Given the description of an element on the screen output the (x, y) to click on. 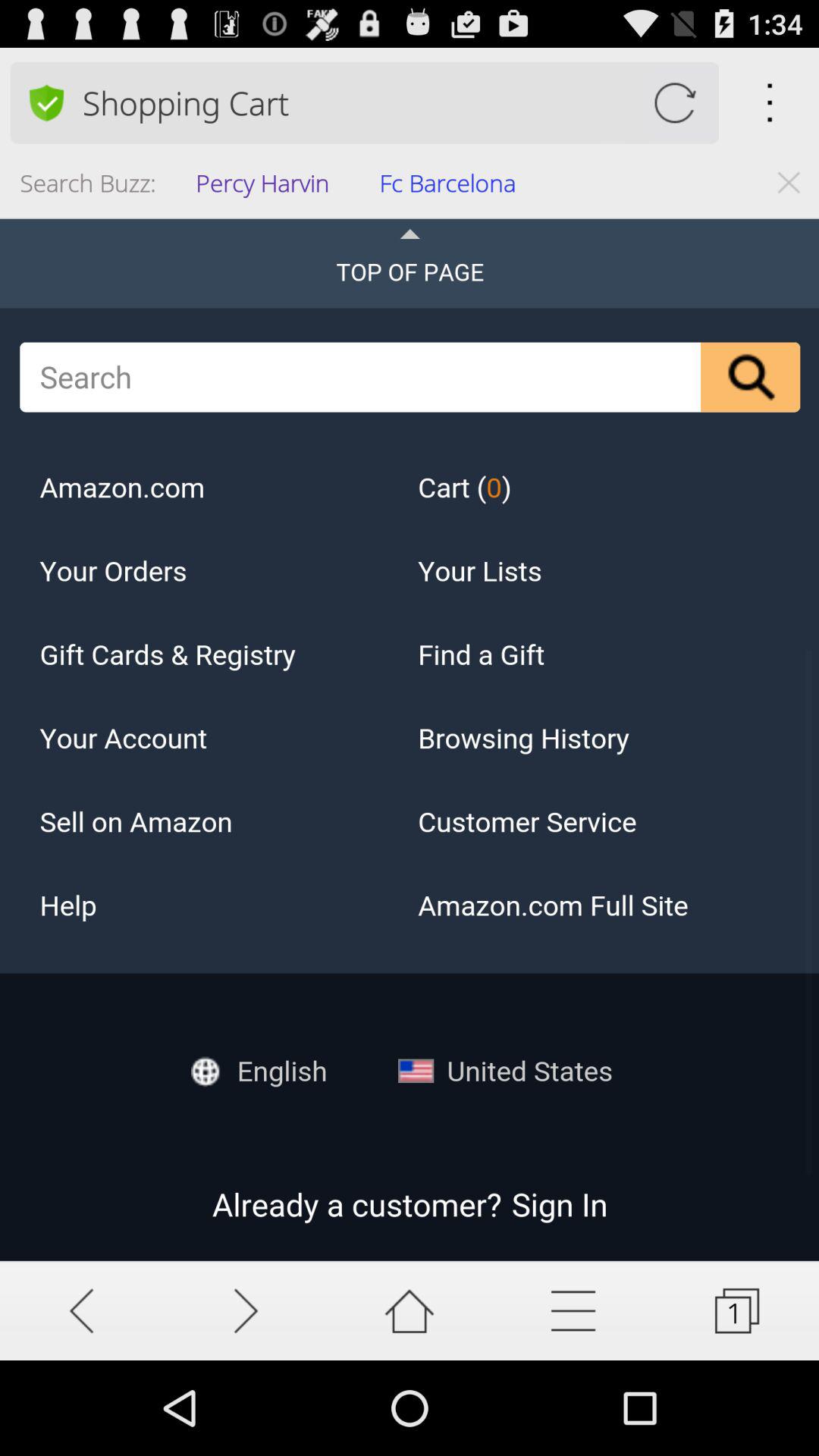
click app below percy harvin item (409, 738)
